Given the description of an element on the screen output the (x, y) to click on. 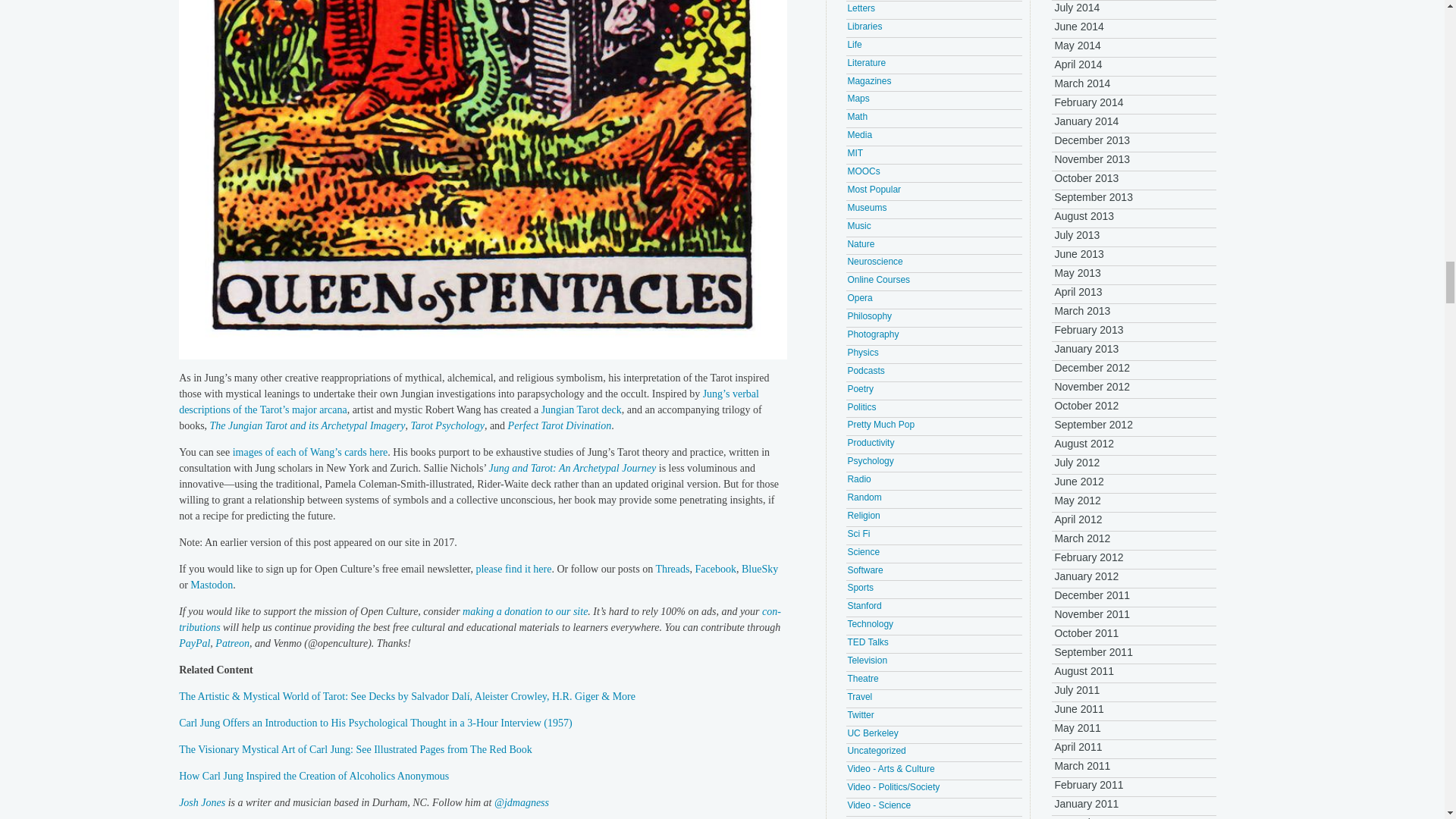
please find it here (513, 568)
